Given the description of an element on the screen output the (x, y) to click on. 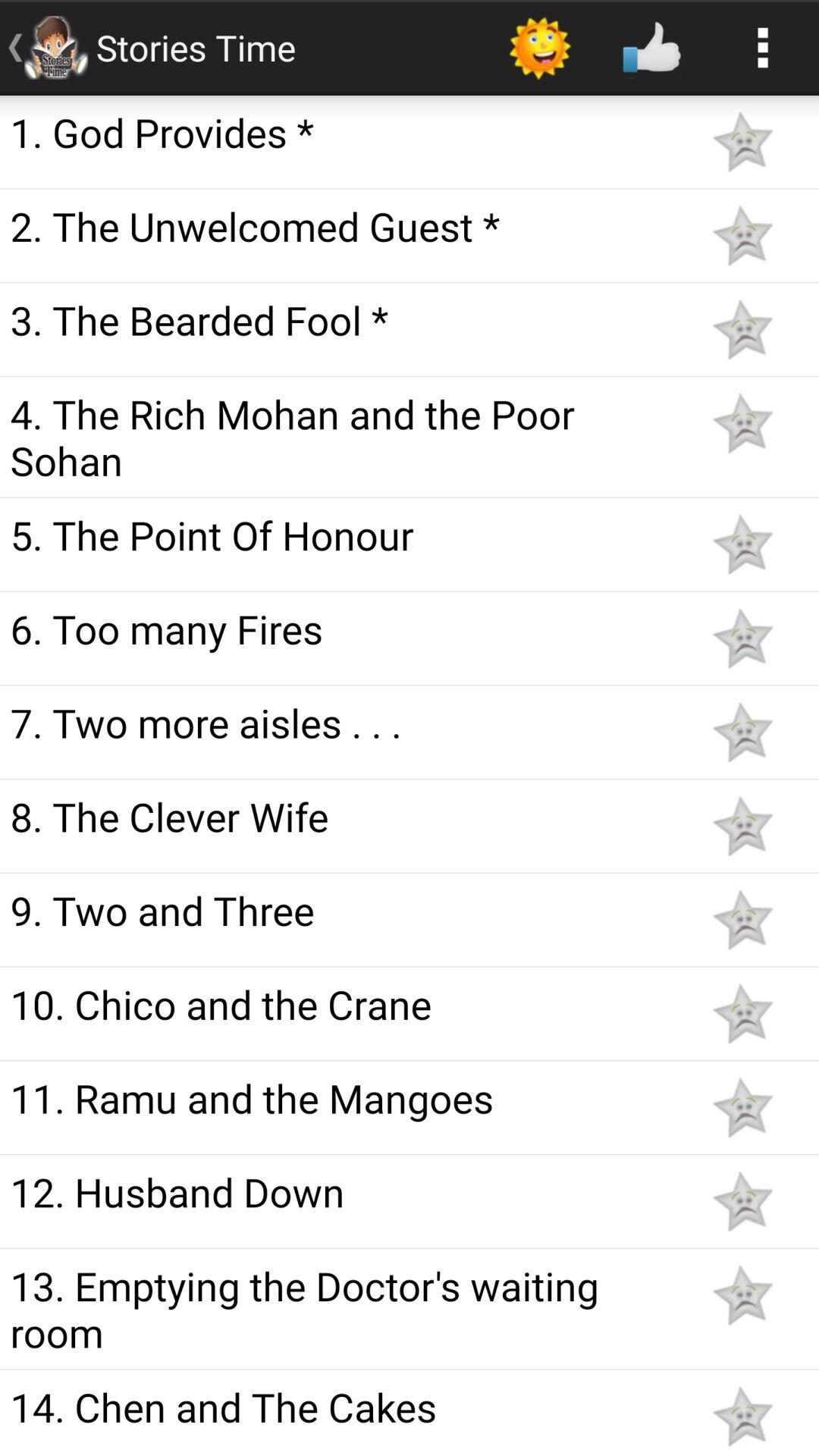
swipe to 10 chico and item (343, 1003)
